Given the description of an element on the screen output the (x, y) to click on. 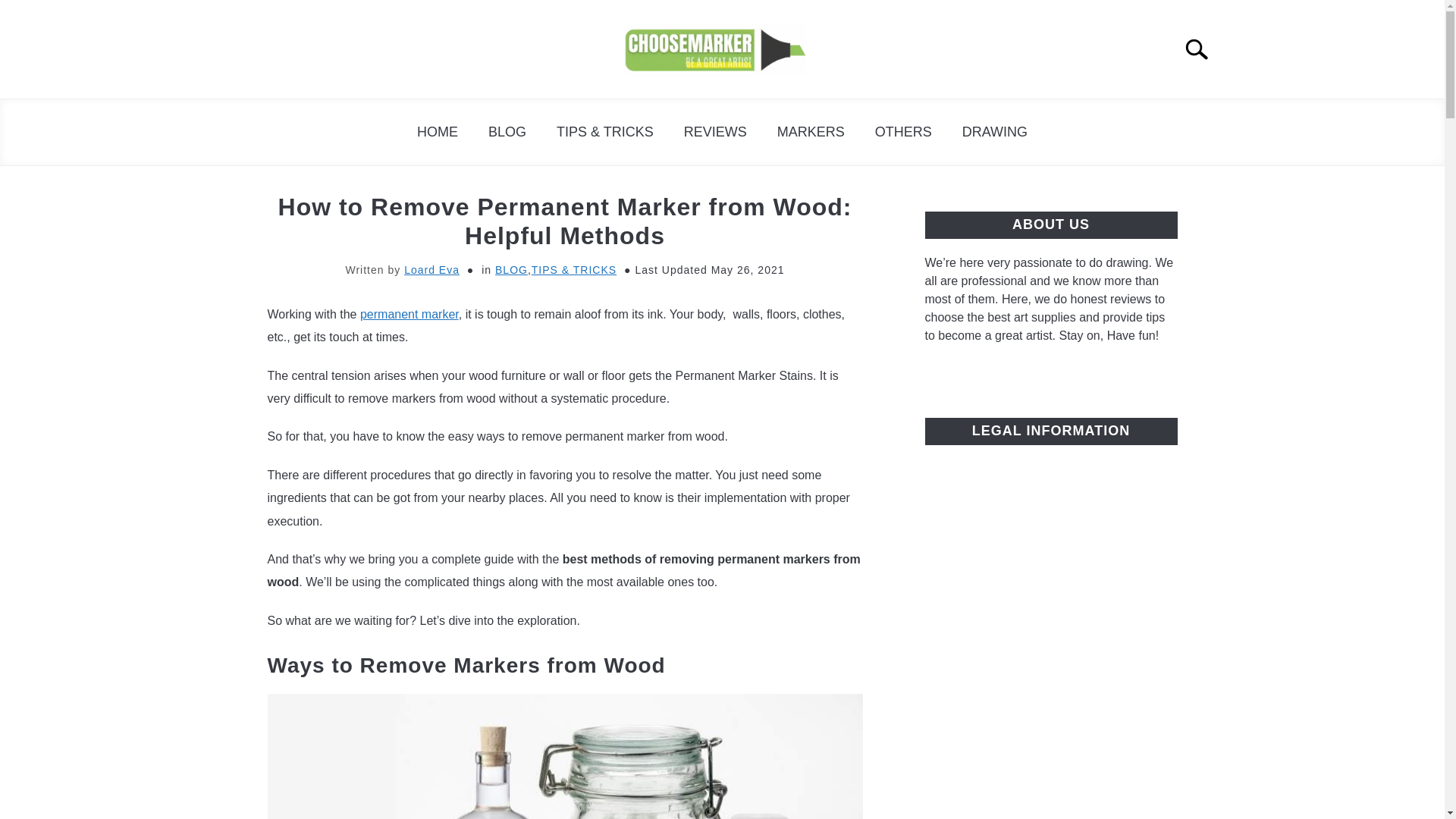
BLOG (511, 269)
REVIEWS (714, 131)
Loard Eva (432, 269)
MARKERS (810, 131)
permanent marker (408, 314)
Search (1203, 49)
HOME (437, 131)
BLOG (507, 131)
OTHERS (903, 131)
DRAWING (994, 131)
